Given the description of an element on the screen output the (x, y) to click on. 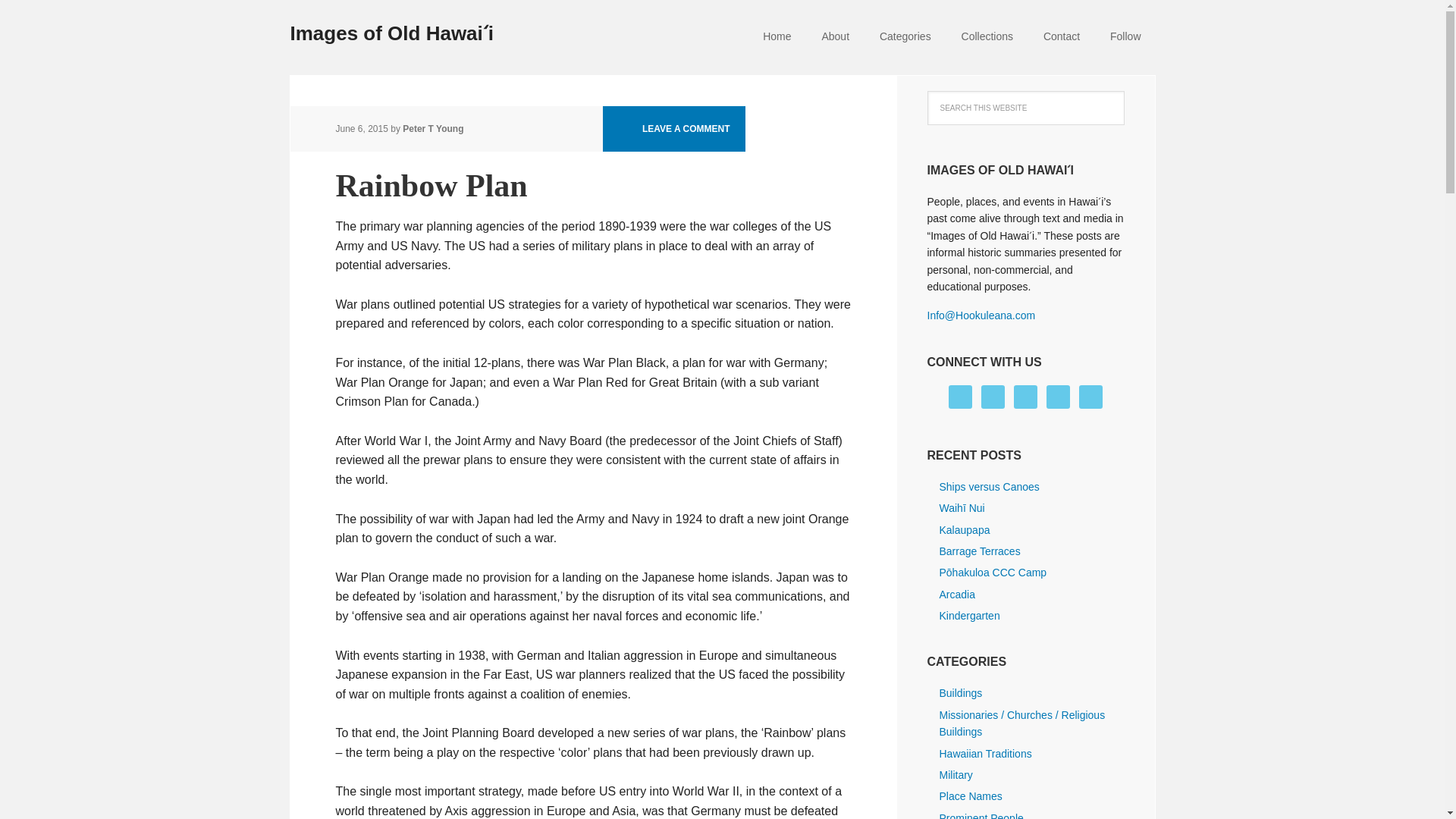
Rainbow Plan (430, 185)
Collections (986, 37)
LEAVE A COMMENT (673, 128)
Peter T Young (433, 128)
Categories (905, 37)
